Given the description of an element on the screen output the (x, y) to click on. 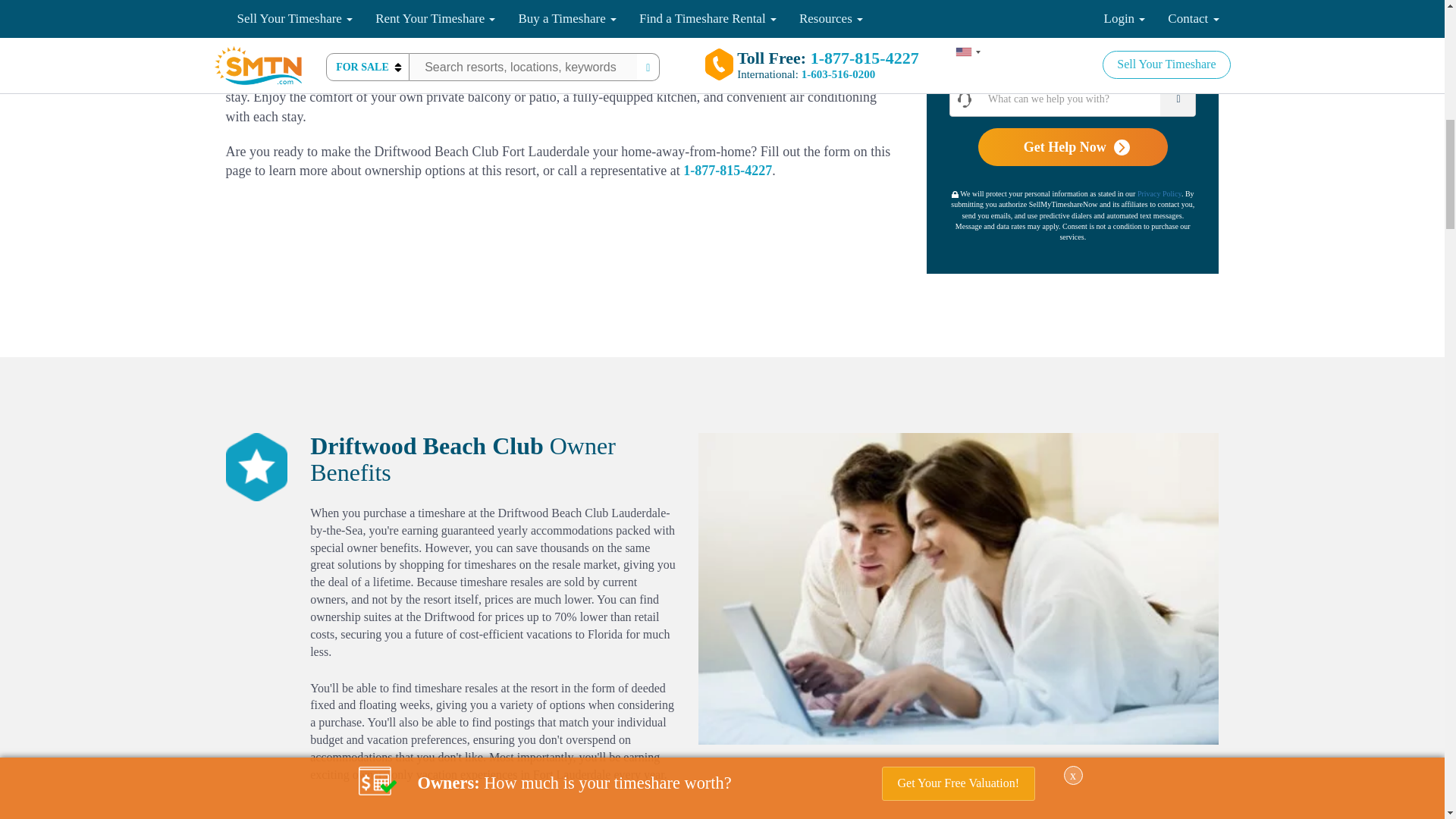
What can we help you with? (1087, 98)
